Given the description of an element on the screen output the (x, y) to click on. 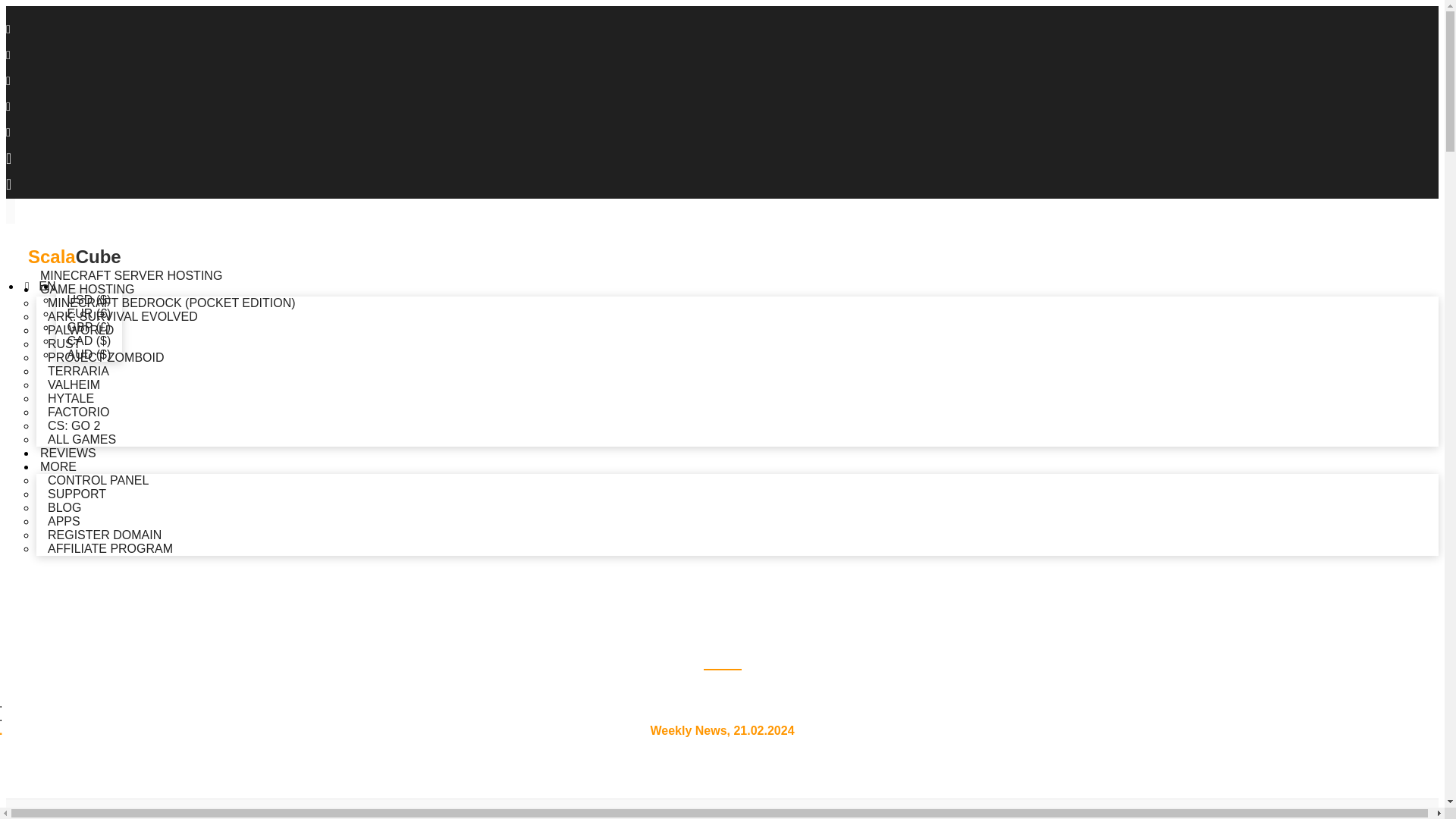
CONTROL PANEL (98, 480)
ScalaCube (721, 245)
MINECRAFT SERVER HOSTING (131, 273)
SUPPORT (76, 494)
PROJECT ZOMBOID (106, 357)
ALL GAMES (82, 439)
APPS (63, 521)
ARK: SURVIVAL EVOLVED (122, 316)
CS: GO 2 (74, 426)
PALWORLD (80, 330)
